Given the description of an element on the screen output the (x, y) to click on. 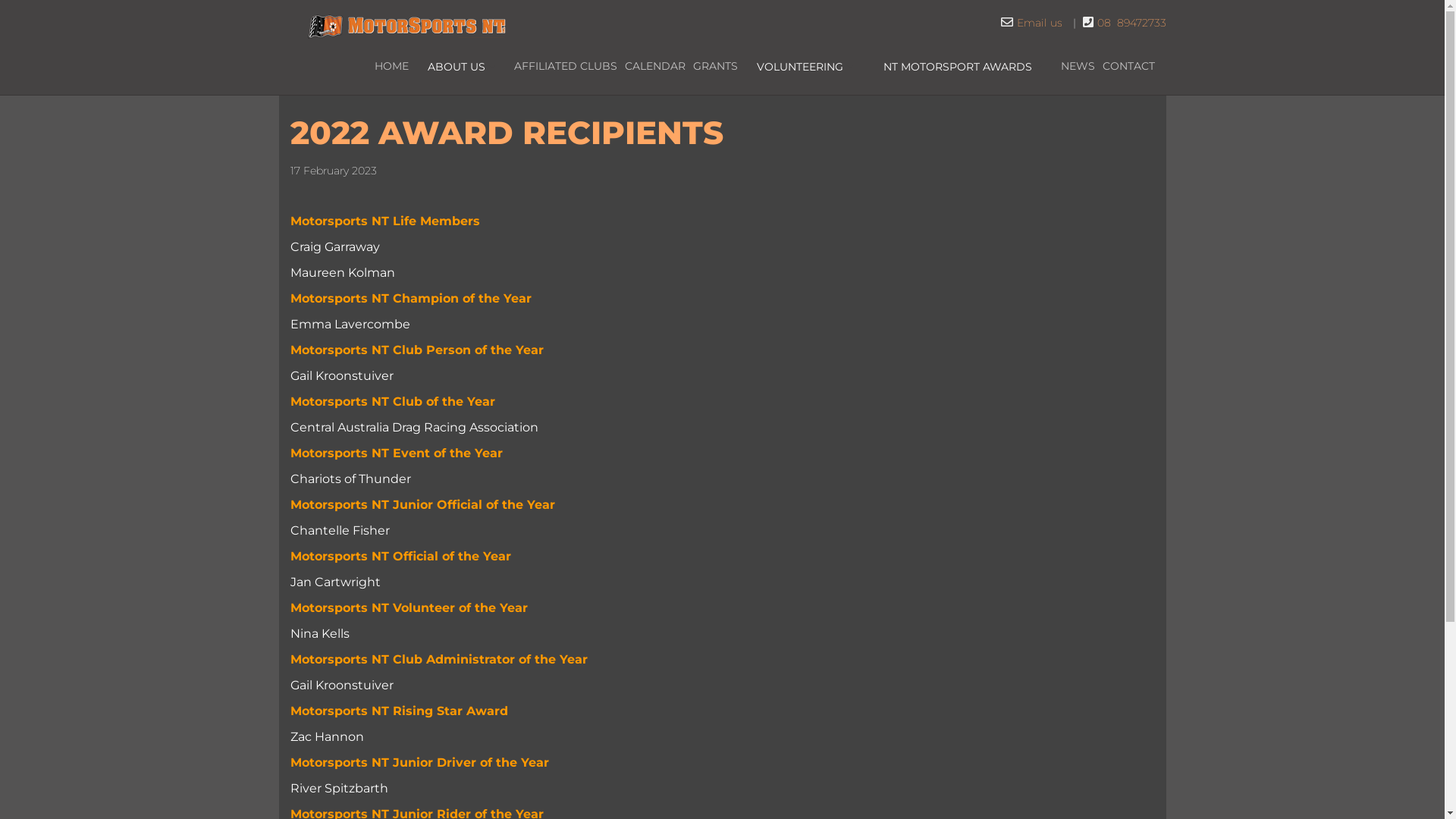
NEWS Element type: text (1077, 66)
CALENDAR Element type: text (654, 66)
Email us Element type: text (1040, 22)
2022 AWARD RECIPIENTS Element type: text (505, 132)
08  89472733 Element type: text (1130, 22)
AFFILIATED CLUBS Element type: text (565, 66)
HOME Element type: text (391, 66)
CONTACT Element type: text (1128, 66)
MotorSports NT Element type: hover (406, 22)
GRANTS Element type: text (715, 66)
